Given the description of an element on the screen output the (x, y) to click on. 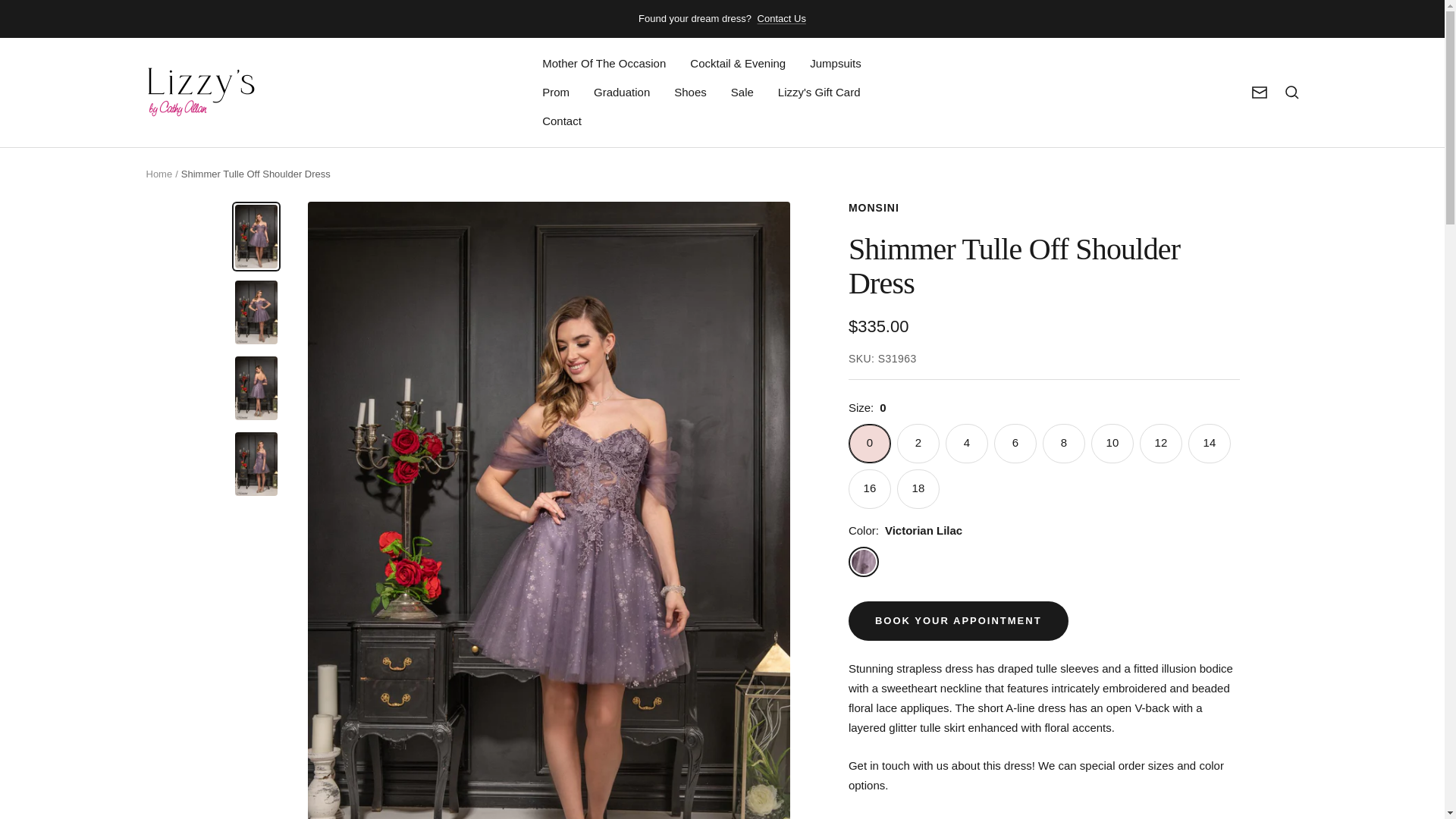
Prom (555, 92)
Jumpsuits (835, 63)
Lizzy's by Cathy Allan (200, 91)
BOOK YOUR APPOINTMENT (958, 620)
Contact (560, 121)
Shoes (690, 92)
Sale (742, 92)
Mother Of The Occasion (603, 63)
Home (158, 173)
